Given the description of an element on the screen output the (x, y) to click on. 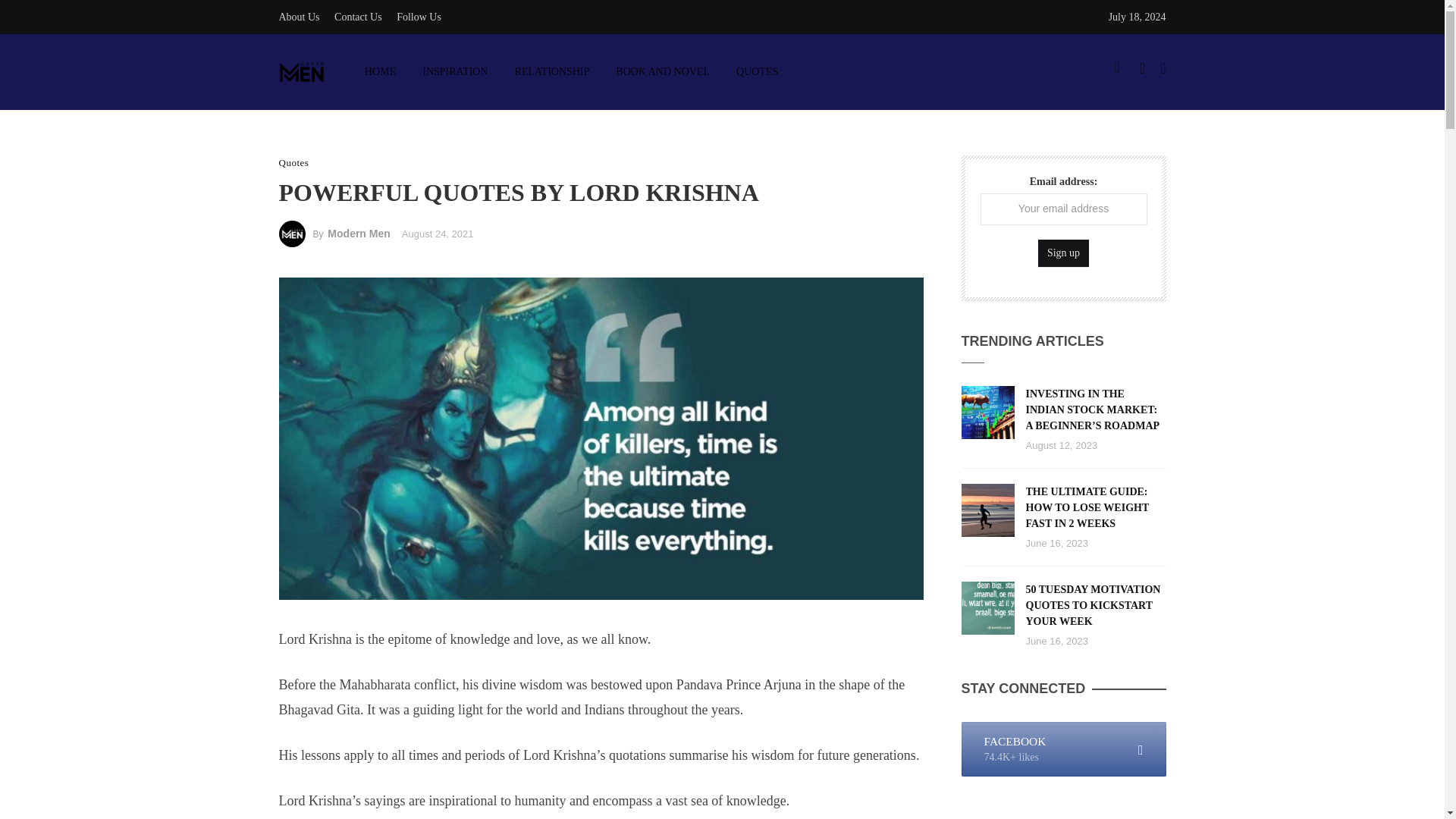
Follow Us (418, 16)
June 16, 2023 at 12:58 am (1056, 641)
June 16, 2023 at 9:29 pm (1056, 542)
Contact Us (358, 16)
Modern Men (358, 233)
QUOTES (757, 71)
INSPIRATION (454, 71)
About Us (299, 16)
RELATIONSHIP (551, 71)
August 24, 2021 at 2:37 am (437, 233)
Sign up (1063, 252)
August 12, 2023 at 4:36 pm (1061, 445)
Quotes (293, 162)
BOOK AND NOVEL (662, 71)
